Given the description of an element on the screen output the (x, y) to click on. 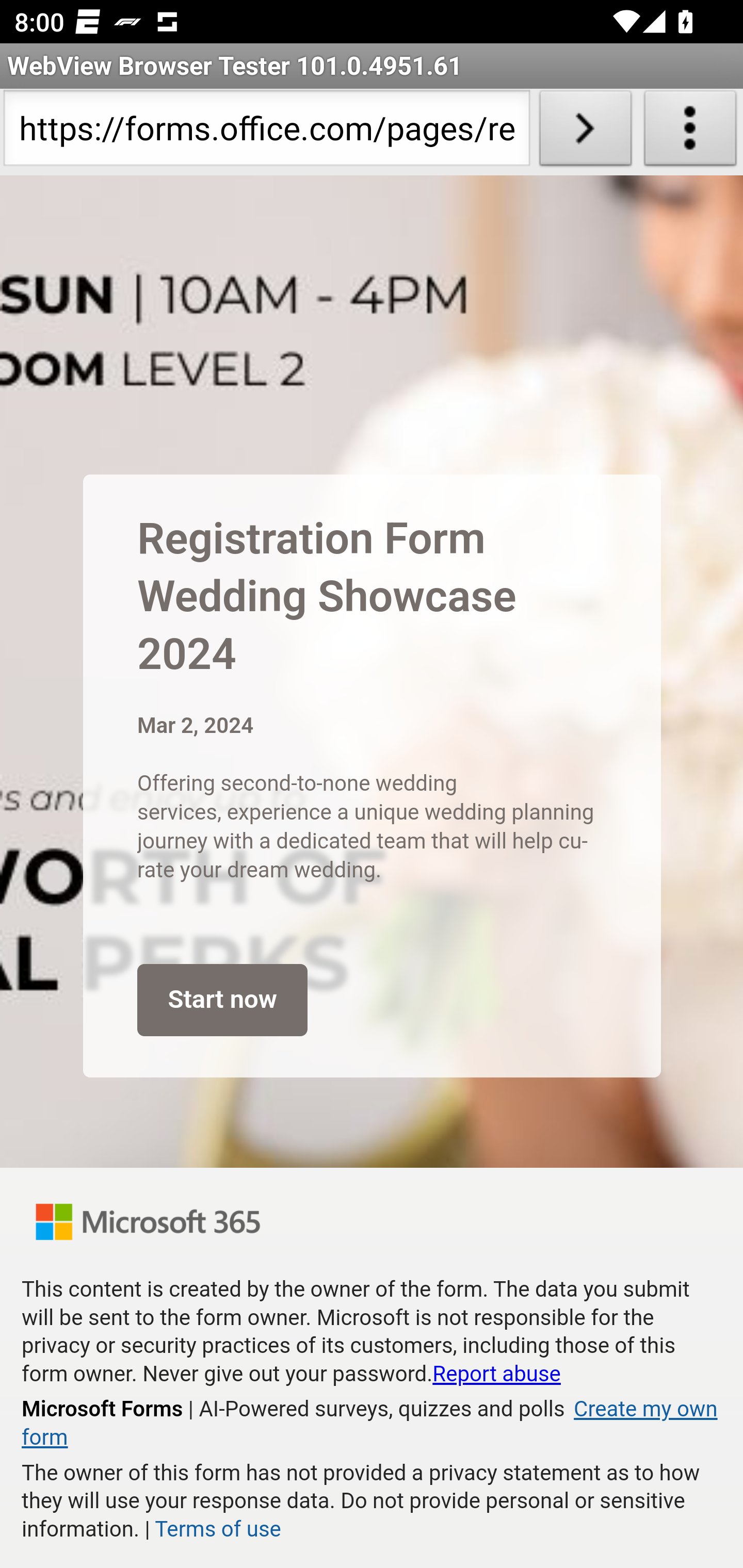
Load URL (585, 132)
About WebView (690, 132)
Microsoft 365 (148, 1221)
Report abuse (496, 1374)
Microsoft Forms (102, 1408)
Create my own form (369, 1423)
Terms of use (217, 1529)
